Given the description of an element on the screen output the (x, y) to click on. 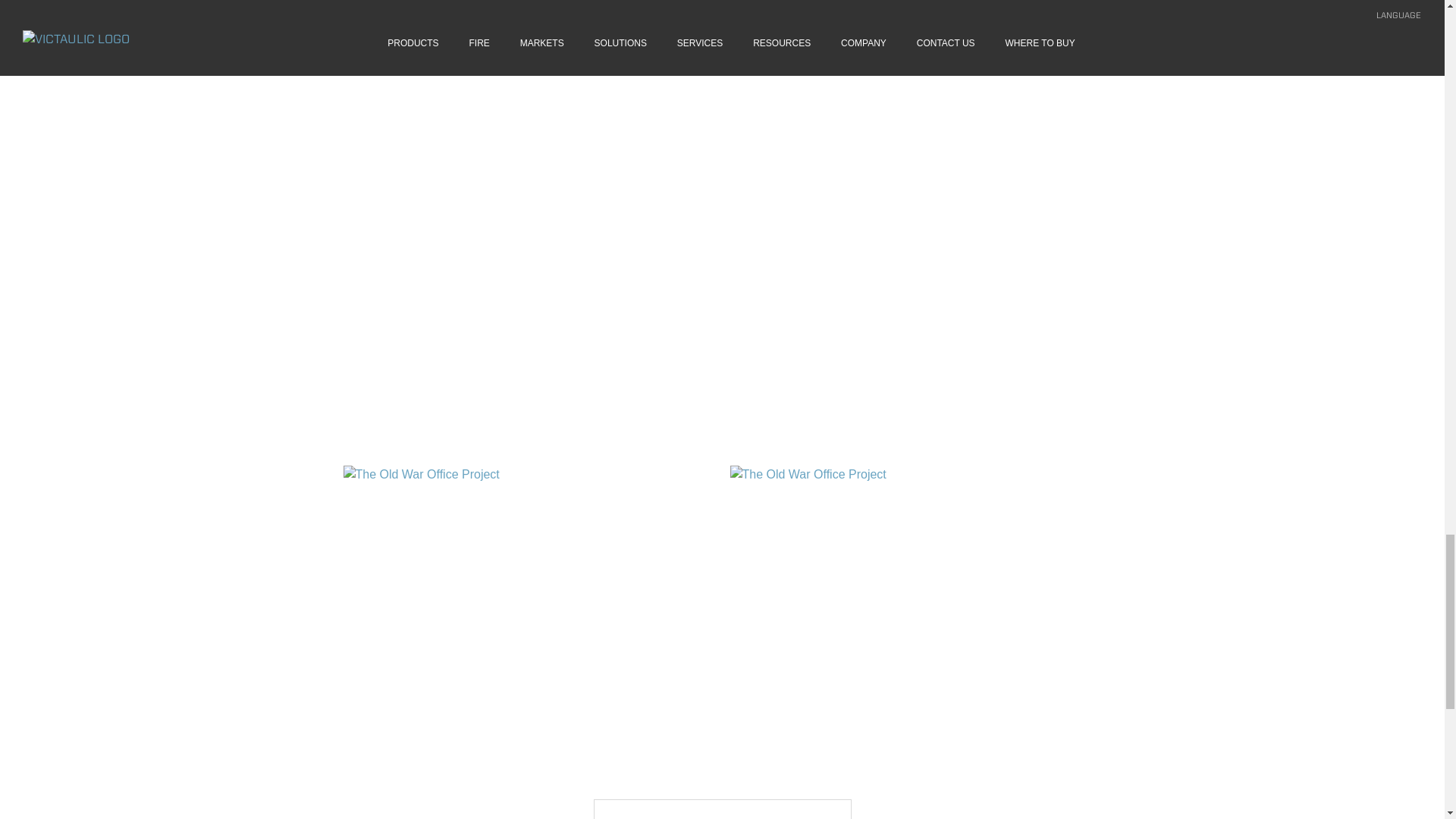
The Old War Office Project (914, 602)
The Old War Office Project (528, 602)
